Given the description of an element on the screen output the (x, y) to click on. 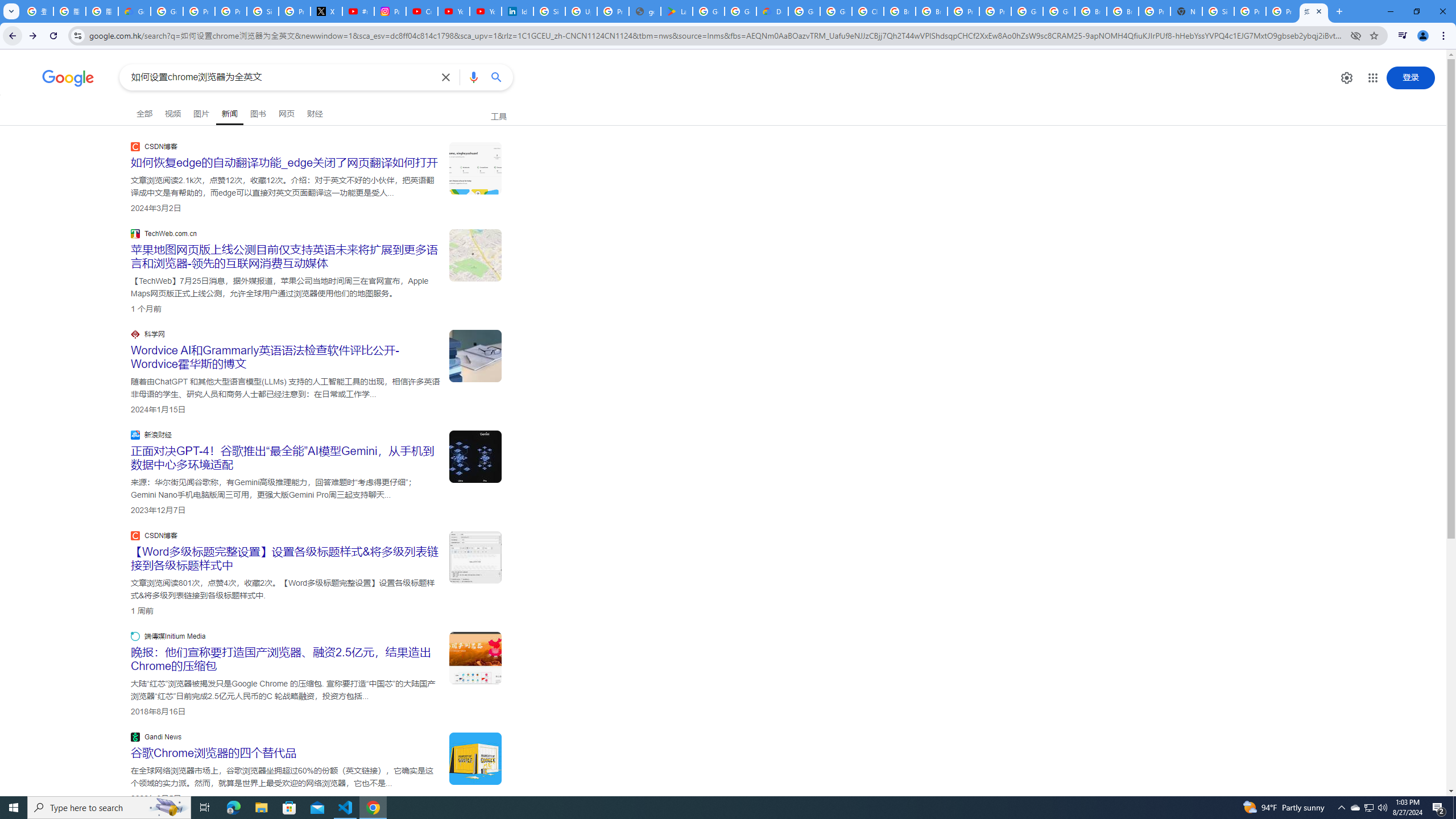
Privacy Help Center - Policies Help (230, 11)
Google Cloud Platform (1059, 11)
YouTube Culture & Trends - YouTube Top 10, 2021 (485, 11)
Sign in - Google Accounts (549, 11)
Google Cloud Platform (1027, 11)
